Given the description of an element on the screen output the (x, y) to click on. 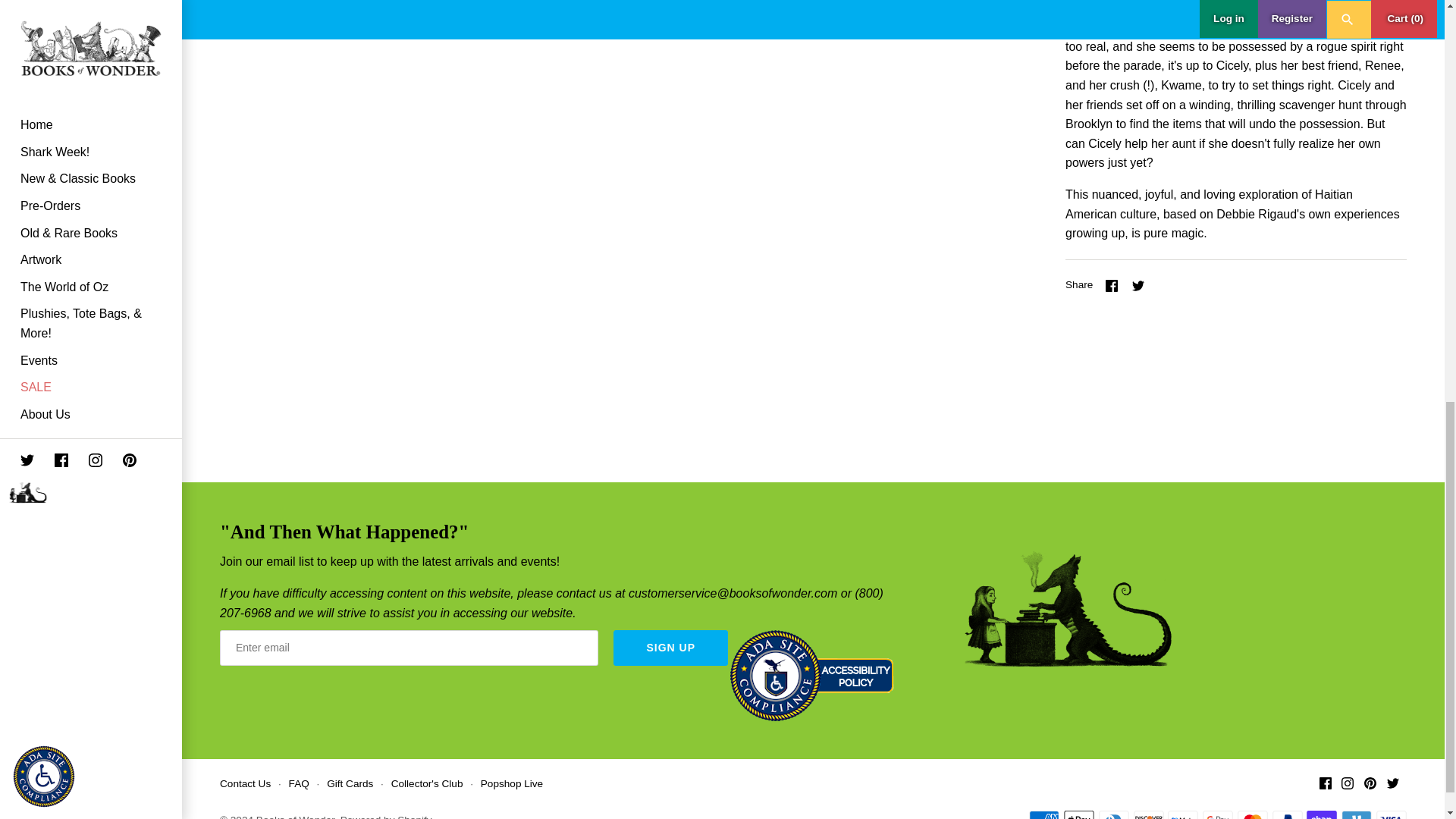
Diners Club (1114, 814)
Discover (1148, 814)
PayPal (1287, 814)
Shop Pay (1321, 814)
Facebook (1325, 783)
Apple Pay (1079, 814)
Twitter (1138, 285)
Twitter (1393, 783)
Google Pay (1217, 814)
Meta Pay (1182, 814)
American Express (1044, 814)
Instagram (1347, 783)
Facebook (1111, 285)
Mastercard (1252, 814)
Pinterest (1369, 783)
